Given the description of an element on the screen output the (x, y) to click on. 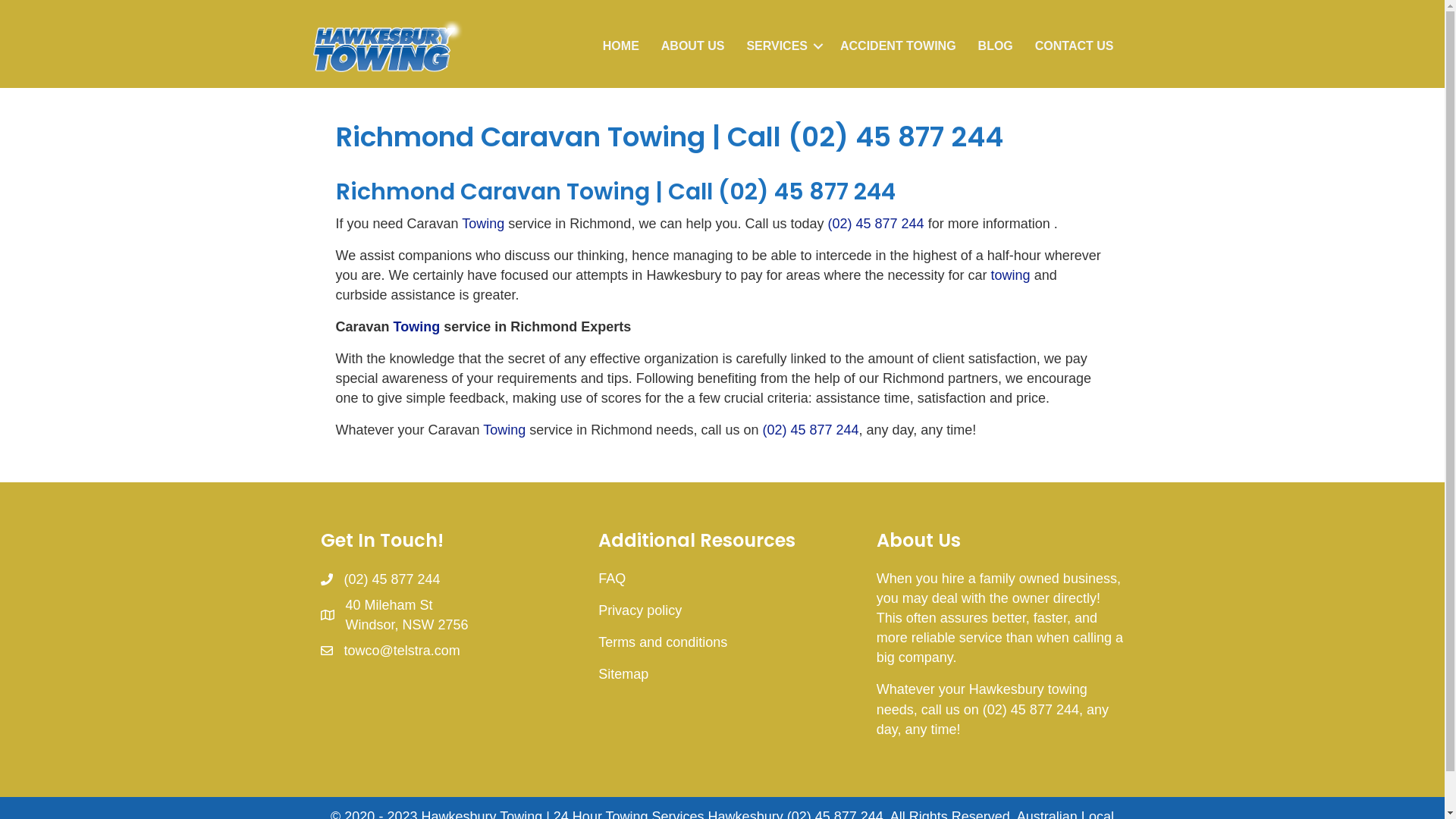
Towing Element type: text (607, 191)
(02) 45 877 244 Element type: text (876, 223)
ACCIDENT TOWING Element type: text (897, 45)
HOME Element type: text (620, 45)
BLOG Element type: text (995, 45)
Privacy policy Element type: text (639, 610)
logo Element type: hover (388, 45)
Towing Element type: text (416, 326)
Terms and conditions Element type: text (662, 641)
Towing Element type: text (482, 223)
Towing Element type: text (504, 429)
FAQ Element type: text (611, 578)
(02) 45 877 244 Element type: text (810, 429)
ABOUT US Element type: text (692, 45)
40 Mileham St
Windsor, NSW 2756 Element type: text (406, 614)
(02) 45 877 244 Element type: text (805, 191)
(02) 45 877 244 Element type: text (392, 579)
towing Element type: text (1010, 274)
Sitemap Element type: text (623, 673)
CONTACT US Element type: text (1074, 45)
SERVICES Element type: text (781, 45)
towco@telstra.com Element type: text (402, 650)
